Given the description of an element on the screen output the (x, y) to click on. 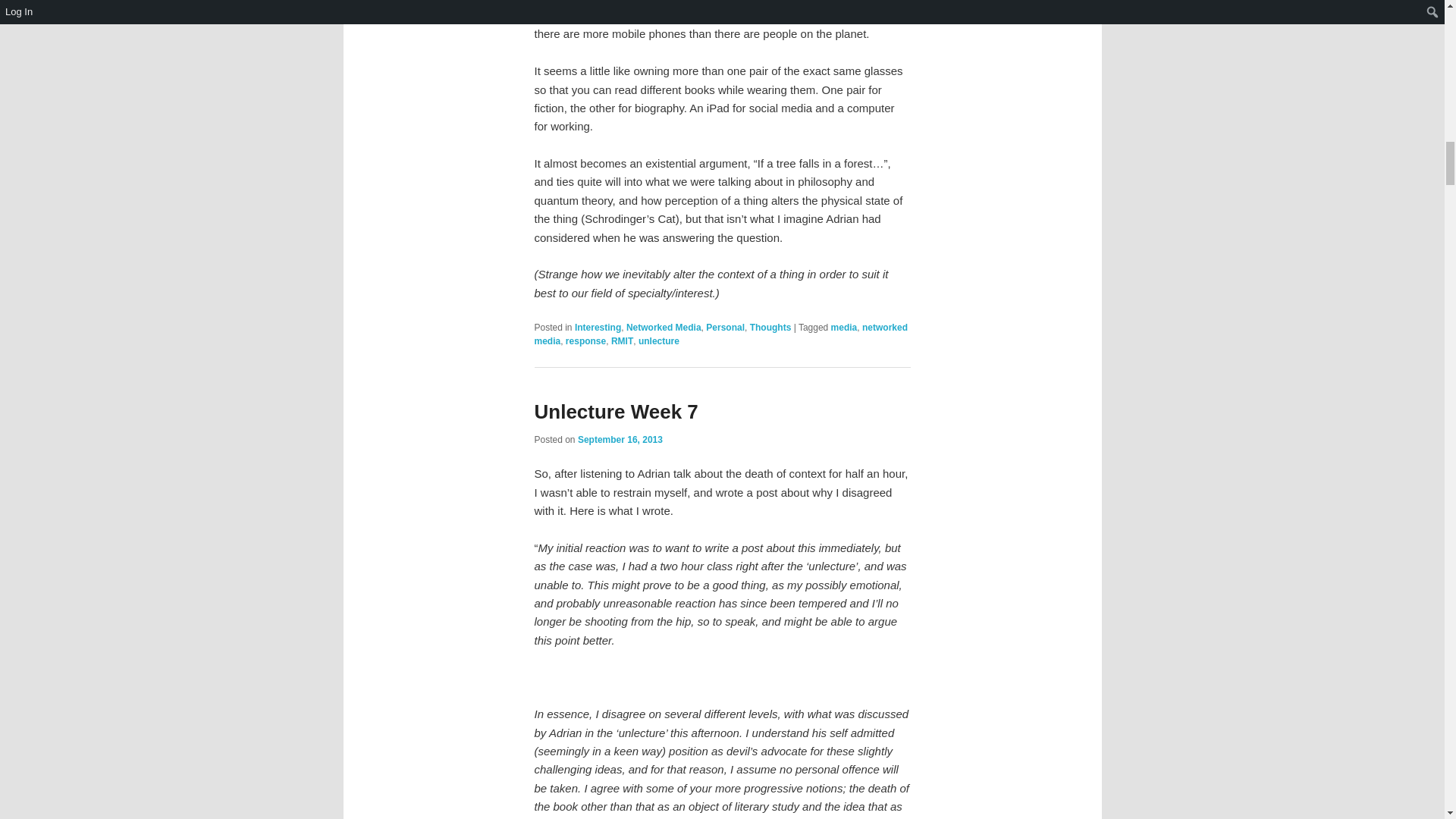
Interesting (598, 327)
RMIT (622, 340)
media (844, 327)
Thoughts (770, 327)
12:37 pm (620, 439)
Networked Media (663, 327)
unlecture (659, 340)
response (585, 340)
networked media (720, 334)
Personal (725, 327)
September 16, 2013 (620, 439)
Unlecture Week 7 (615, 411)
Permalink to Unlecture Week 7 (615, 411)
